Given the description of an element on the screen output the (x, y) to click on. 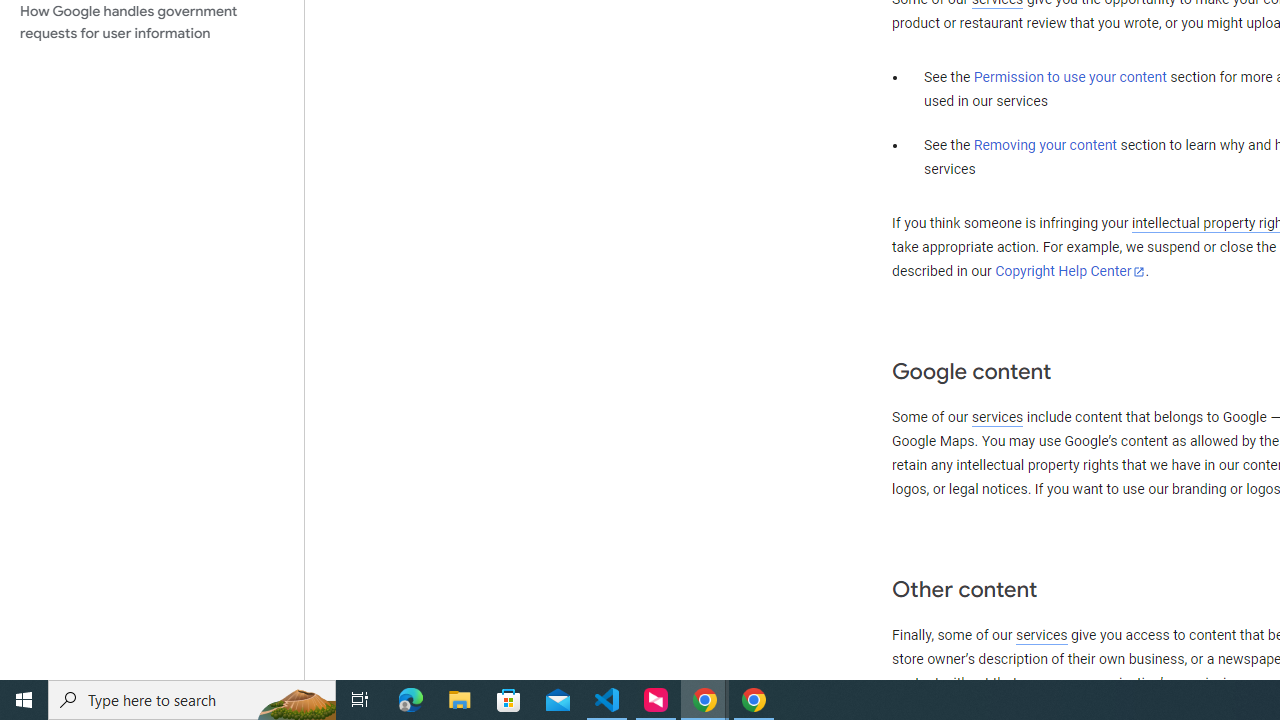
Permission to use your content (1069, 78)
services (1041, 635)
Copyright Help Center (1069, 271)
Removing your content (1044, 145)
